Given the description of an element on the screen output the (x, y) to click on. 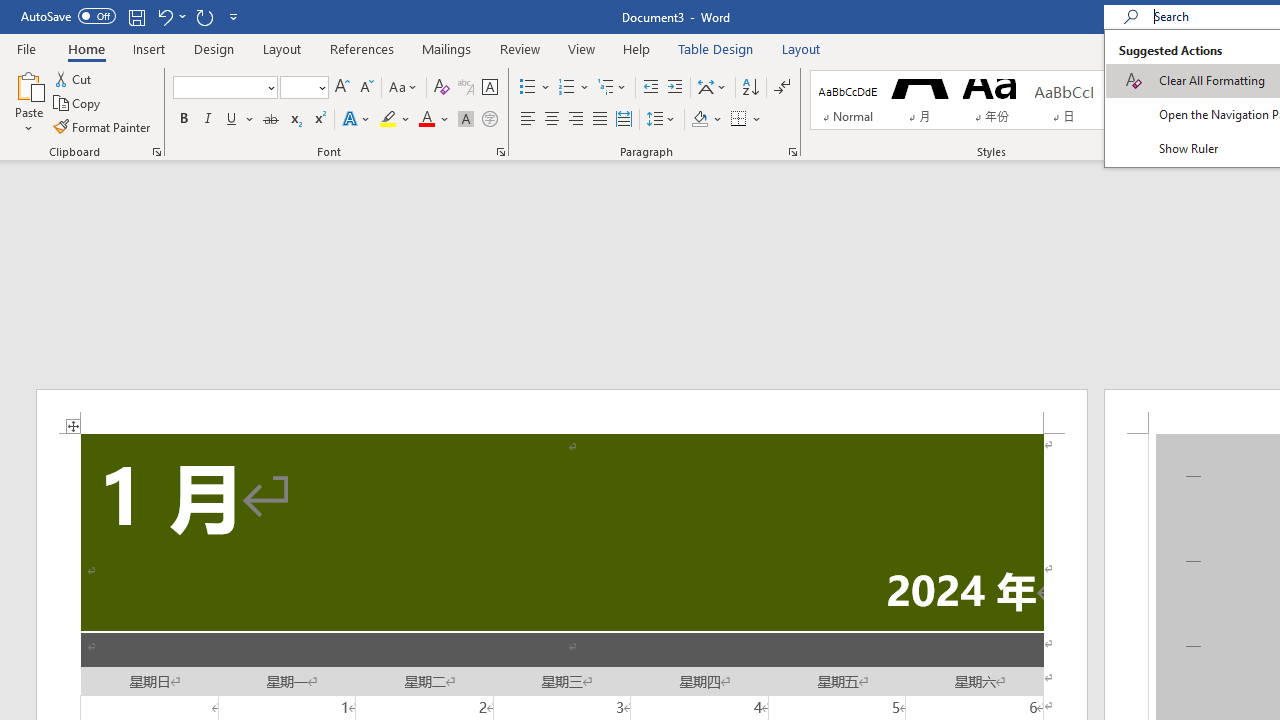
Table Design (715, 48)
Distributed (623, 119)
Paste (28, 102)
Sort... (750, 87)
Insert (149, 48)
Character Shading (465, 119)
Increase Indent (675, 87)
More Options (1266, 78)
Replace... (1242, 101)
Bullets (527, 87)
Open (320, 87)
Find (1240, 78)
